Given the description of an element on the screen output the (x, y) to click on. 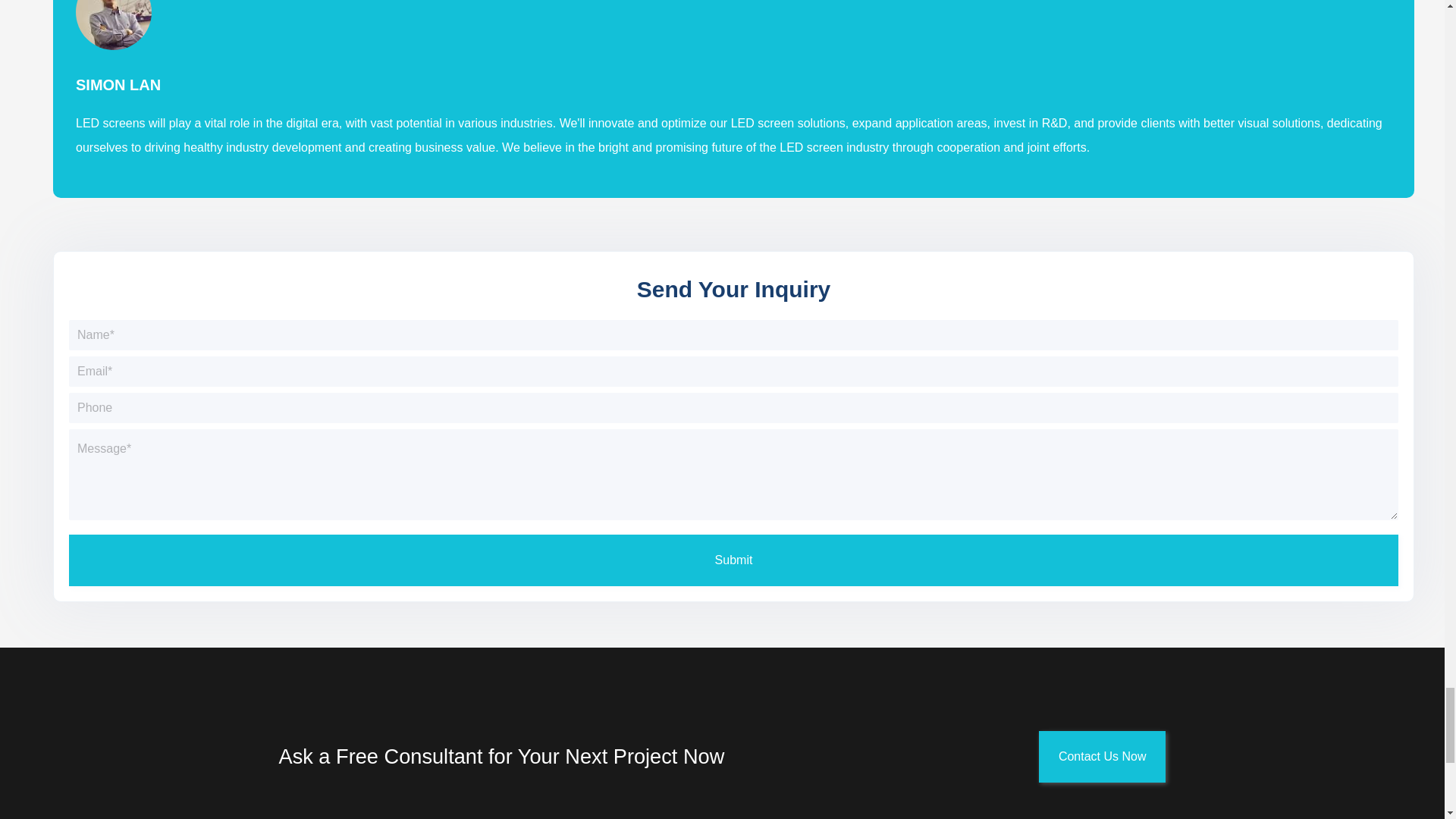
Submit (732, 560)
